Given the description of an element on the screen output the (x, y) to click on. 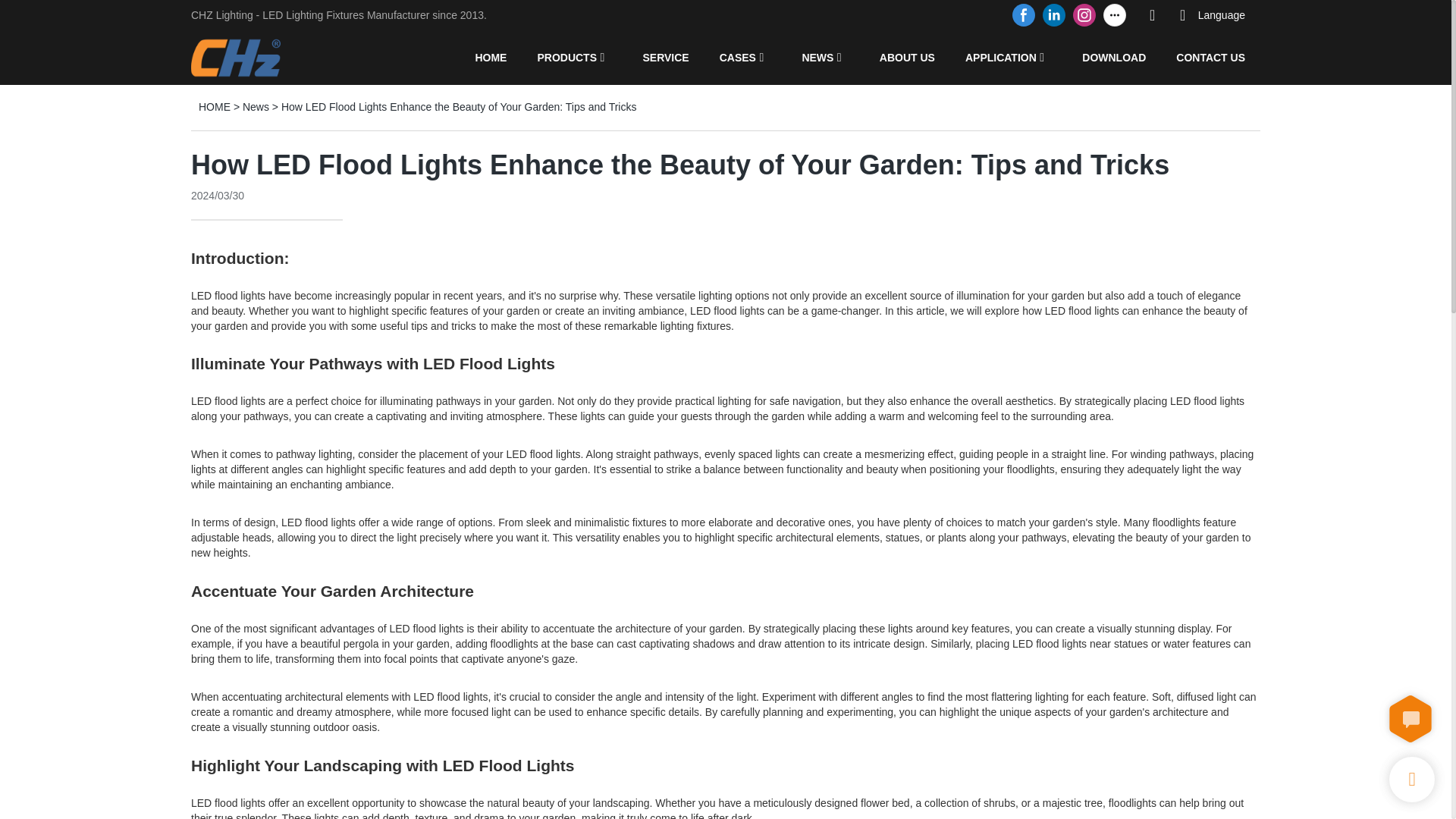
PRODUCTS (566, 57)
HOME (490, 57)
CASES (737, 57)
DOWNLOAD (1113, 57)
instagram (1083, 15)
linkedin (1053, 15)
APPLICATION (1000, 57)
ABOUT US (906, 57)
News (256, 106)
CONTACT US (1210, 57)
HOME (214, 106)
SERVICE (665, 57)
facebook (1024, 15)
NEWS (817, 57)
